Given the description of an element on the screen output the (x, y) to click on. 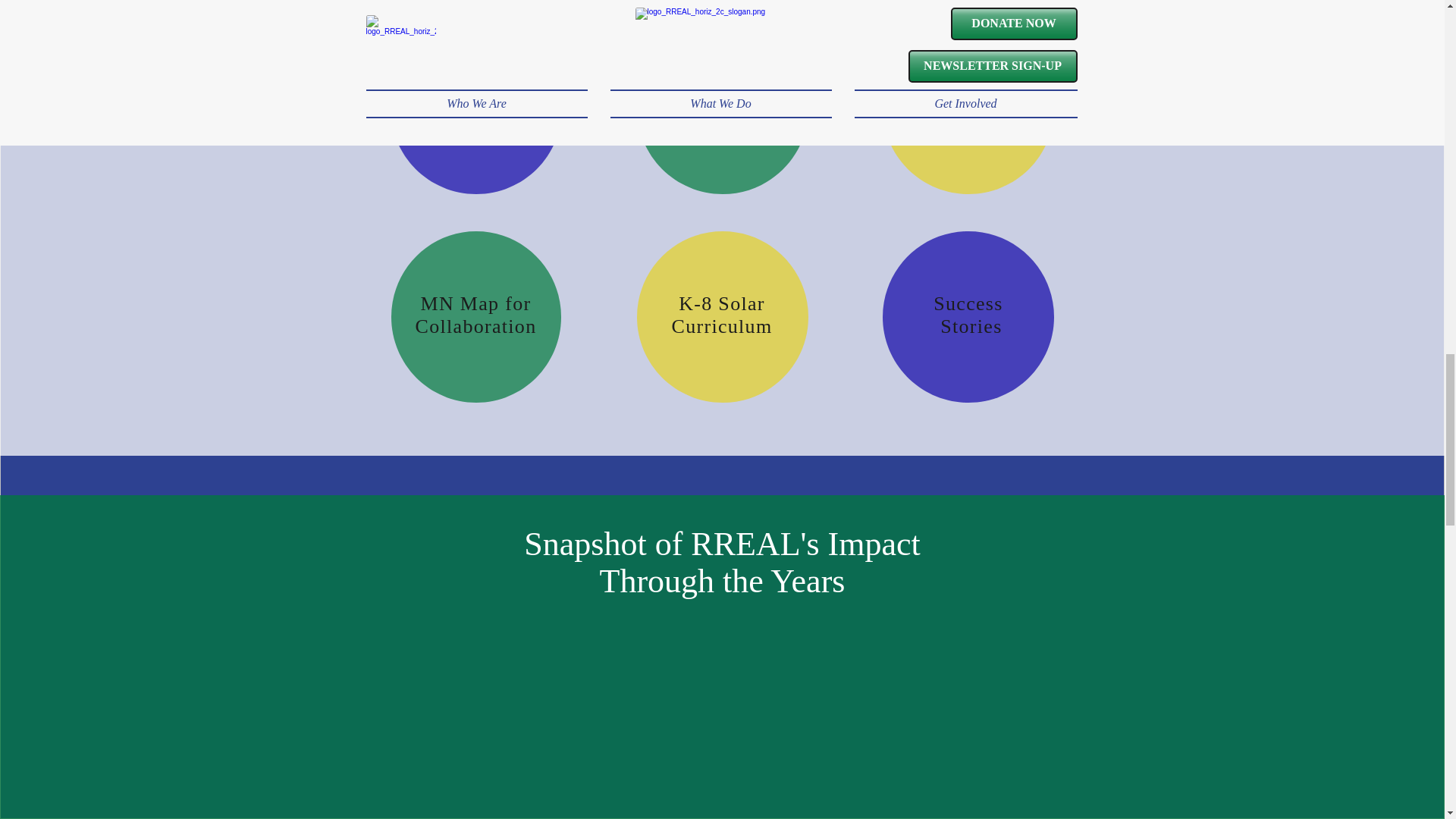
White Earth Partnership (475, 106)
Solar for Humanity (721, 106)
Success  Stories (968, 314)
K-8 Solar Curriculum (722, 316)
MN Map for Collaboration (475, 314)
